Given the description of an element on the screen output the (x, y) to click on. 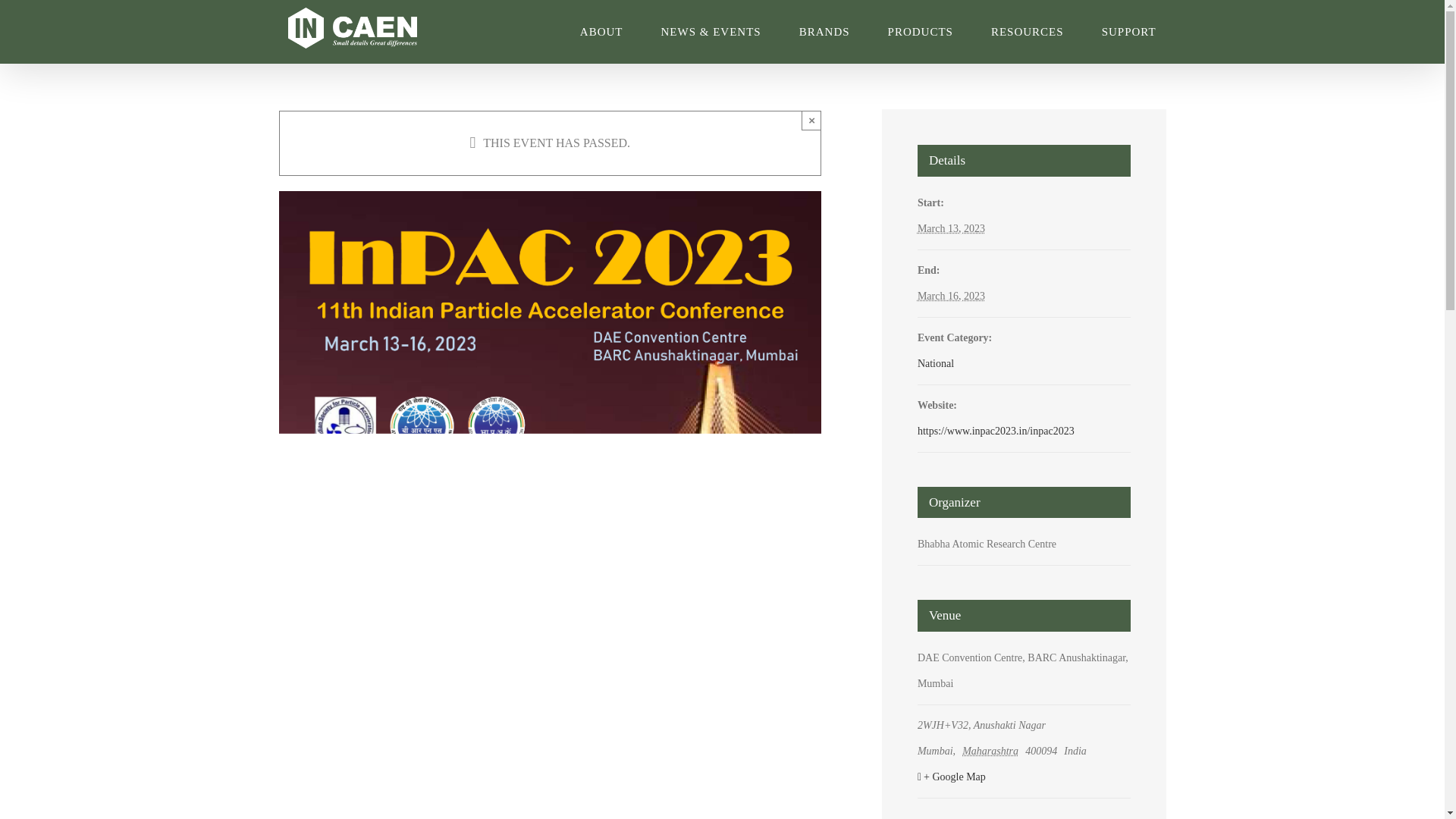
Click to view a Google Map (1022, 777)
Maharashtra (992, 750)
RESOURCES (1027, 31)
SUPPORT (1129, 31)
PRODUCTS (920, 31)
2023-03-13 (951, 228)
ABOUT (601, 31)
National (935, 363)
2023-03-16 (951, 296)
BRANDS (824, 31)
